Given the description of an element on the screen output the (x, y) to click on. 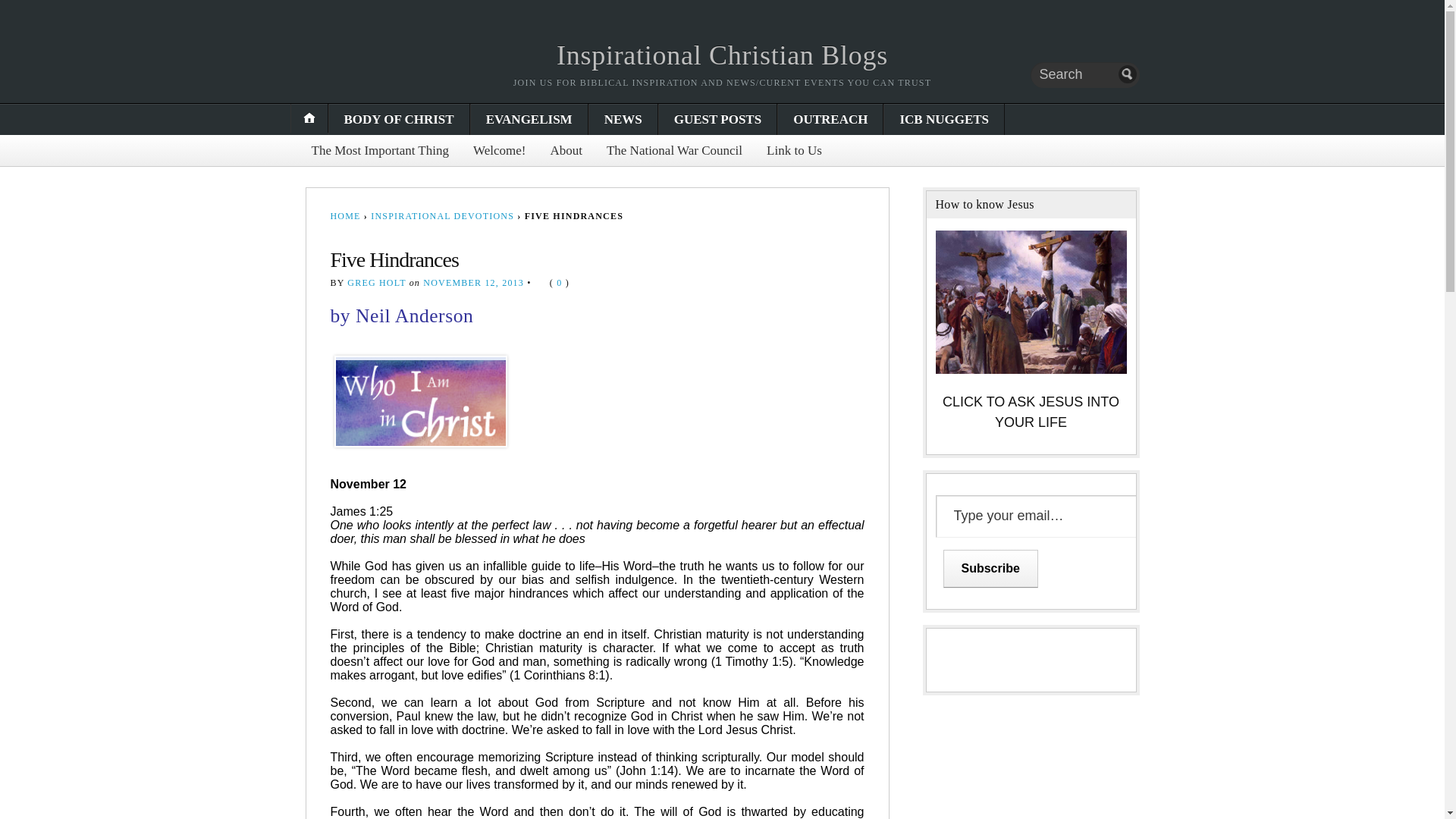
About (565, 150)
BODY OF CHRIST (398, 119)
7:29 am (473, 282)
Home (722, 55)
Link to Us (794, 150)
The Most Important Thing (379, 150)
Welcome! (499, 150)
NEWS (623, 119)
View all posts by Greg Holt (376, 282)
Please fill in this field. (1044, 516)
